Given the description of an element on the screen output the (x, y) to click on. 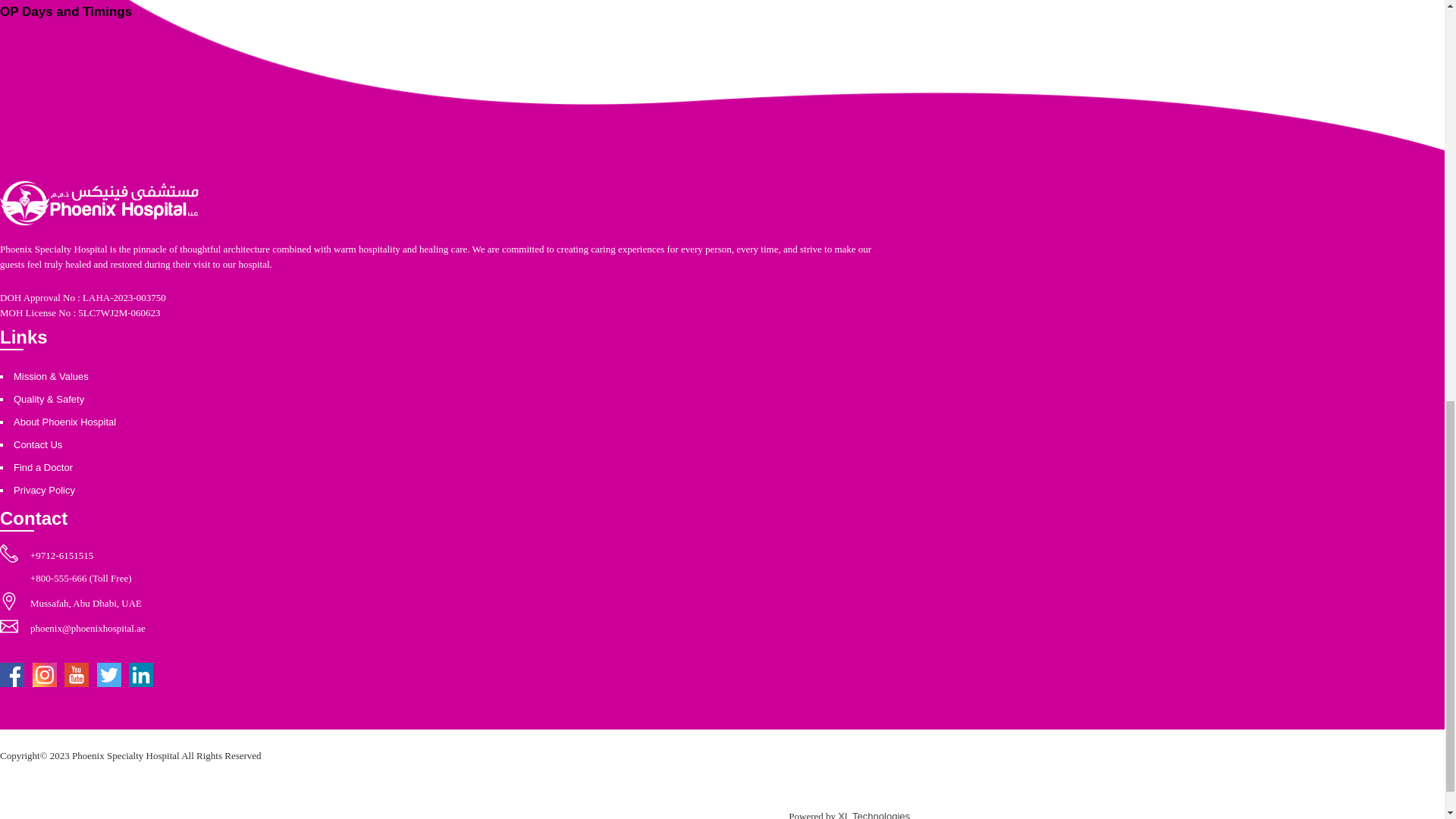
Find a Doctor (42, 467)
Contact Us (37, 444)
XL Technologies (874, 814)
Privacy Policy (44, 490)
About Phoenix Hospital (64, 421)
